Given the description of an element on the screen output the (x, y) to click on. 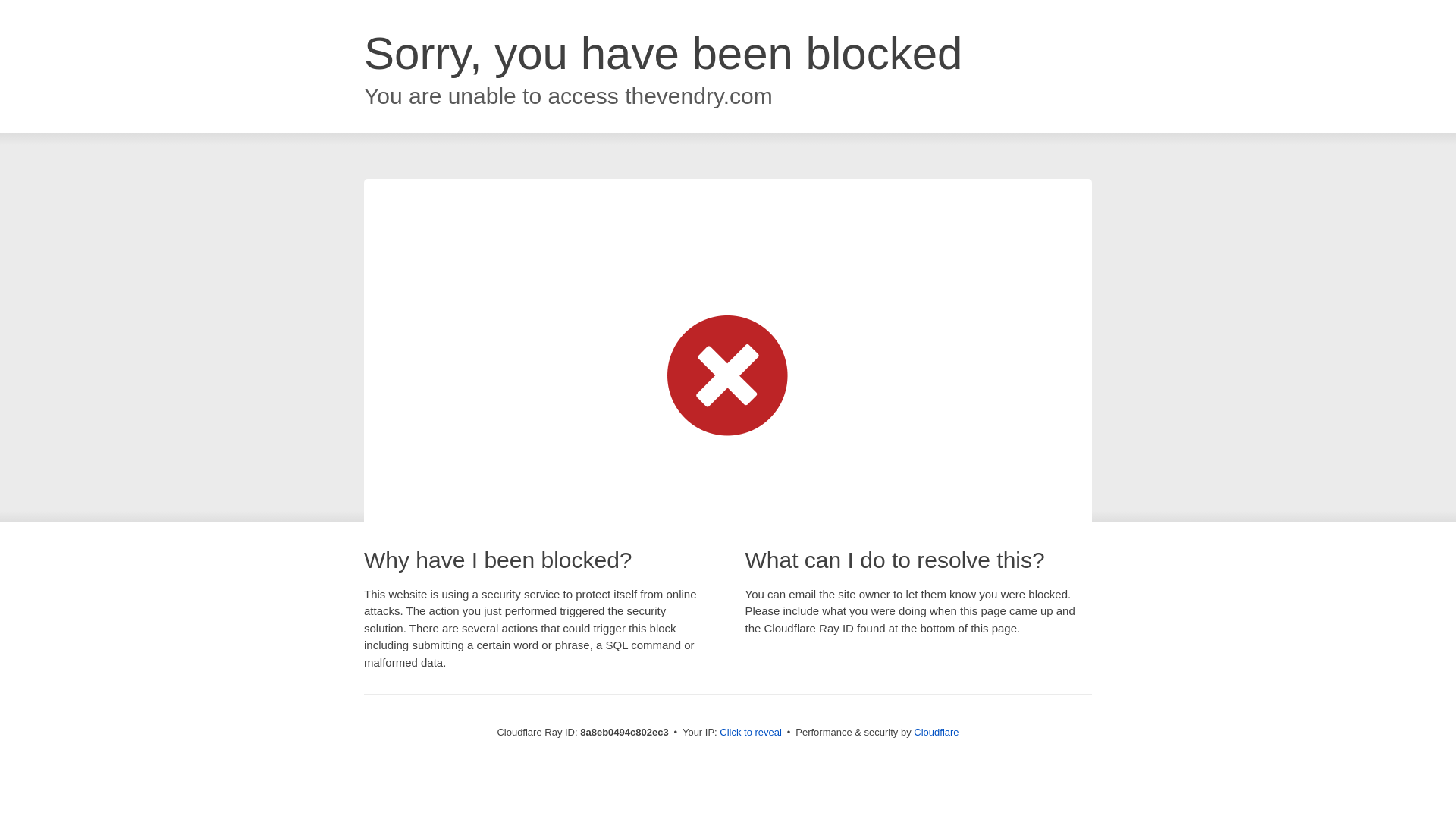
Click to reveal (750, 732)
Cloudflare (936, 731)
